Given the description of an element on the screen output the (x, y) to click on. 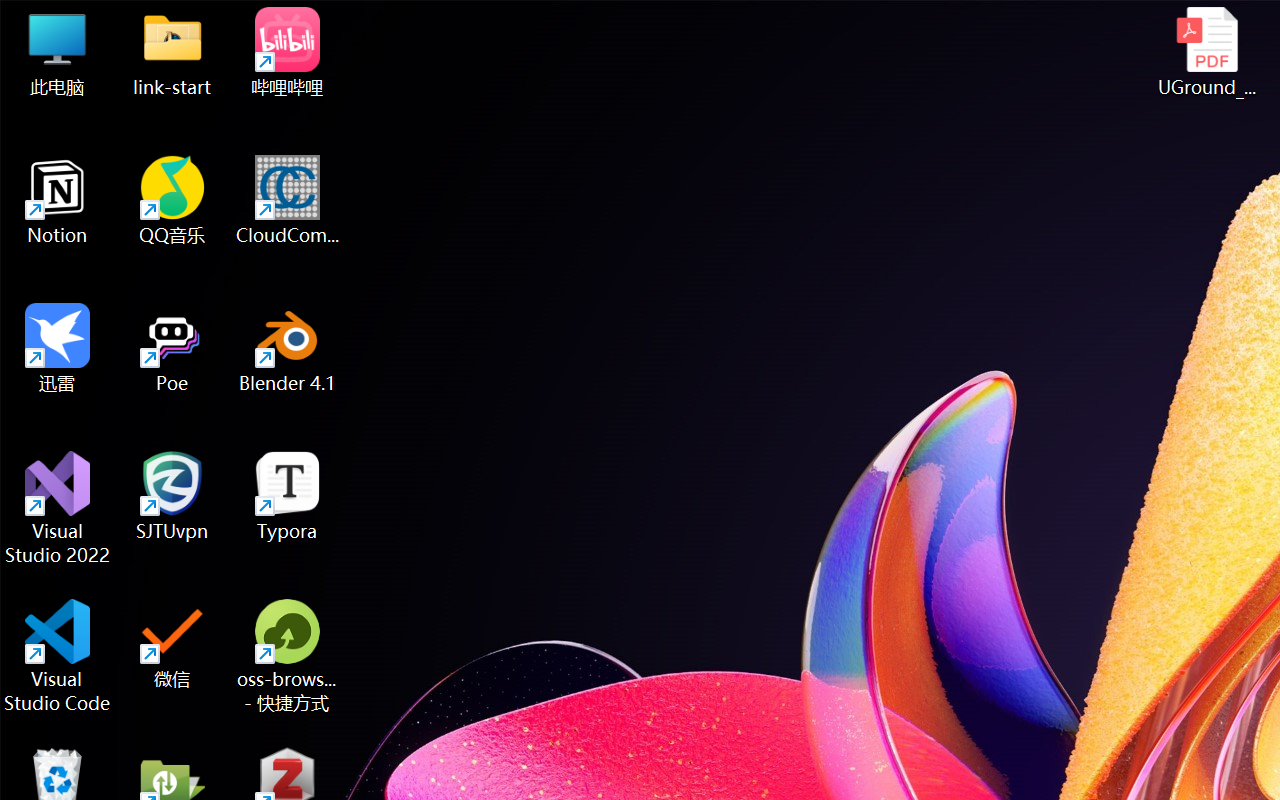
CloudCompare (287, 200)
Typora (287, 496)
Blender 4.1 (287, 348)
Visual Studio 2022 (57, 508)
SJTUvpn (172, 496)
UGround_paper.pdf (1206, 52)
Visual Studio Code (57, 656)
